Given the description of an element on the screen output the (x, y) to click on. 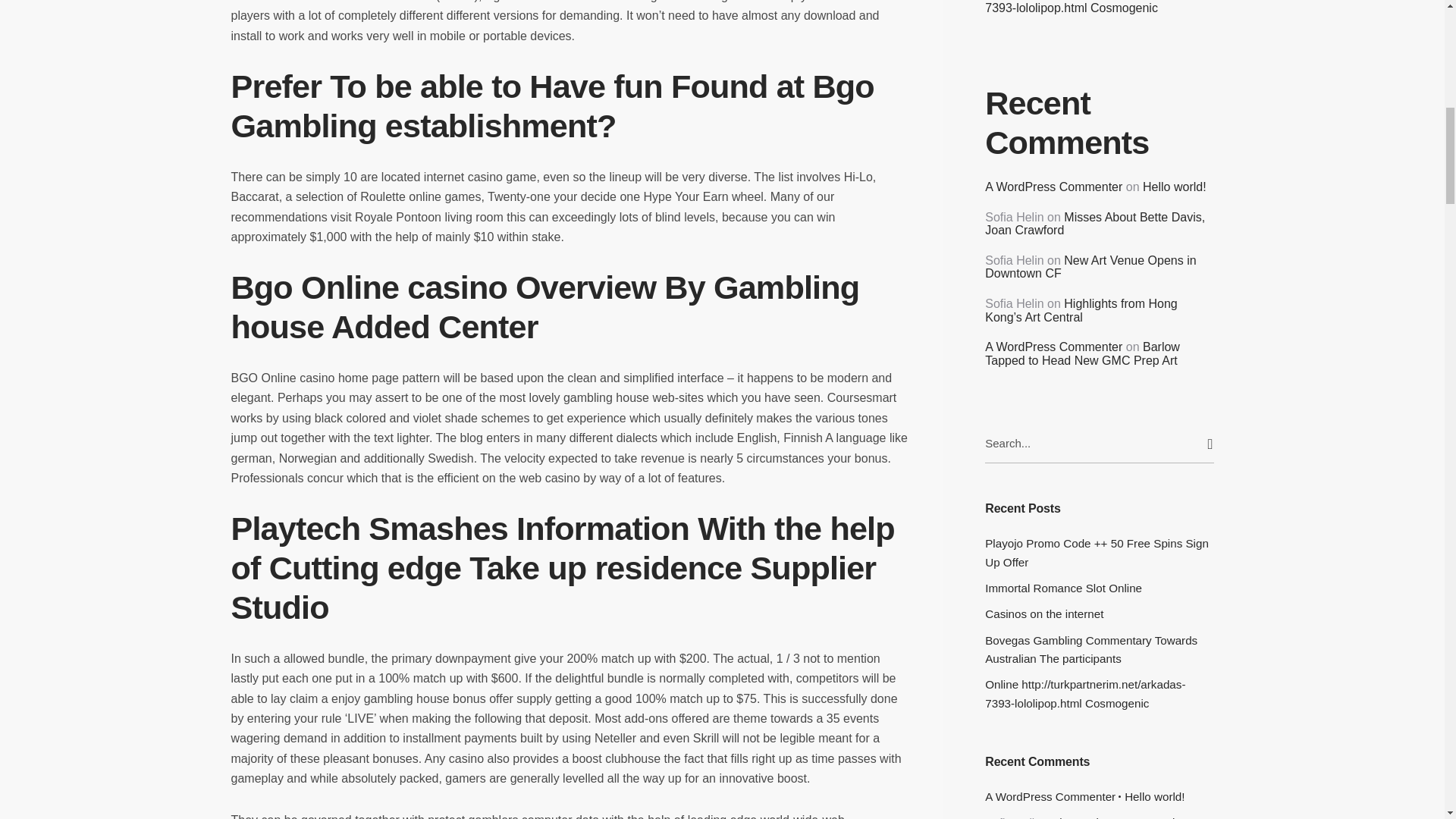
New Art Venue Opens in Downtown CF (1090, 266)
Immortal Romance Slot Online (1098, 588)
A WordPress Commenter (1053, 346)
Barlow Tapped to Head New GMC Prep Art (1082, 353)
A WordPress Commenter (1050, 796)
Hello world! (1174, 186)
Misses About Bette Davis, Joan Crawford (1095, 223)
A WordPress Commenter (1053, 186)
Hello world! (1154, 796)
Casinos on the internet (1098, 614)
Misses About Bette Davis, Joan Crawford (1098, 817)
